Given the description of an element on the screen output the (x, y) to click on. 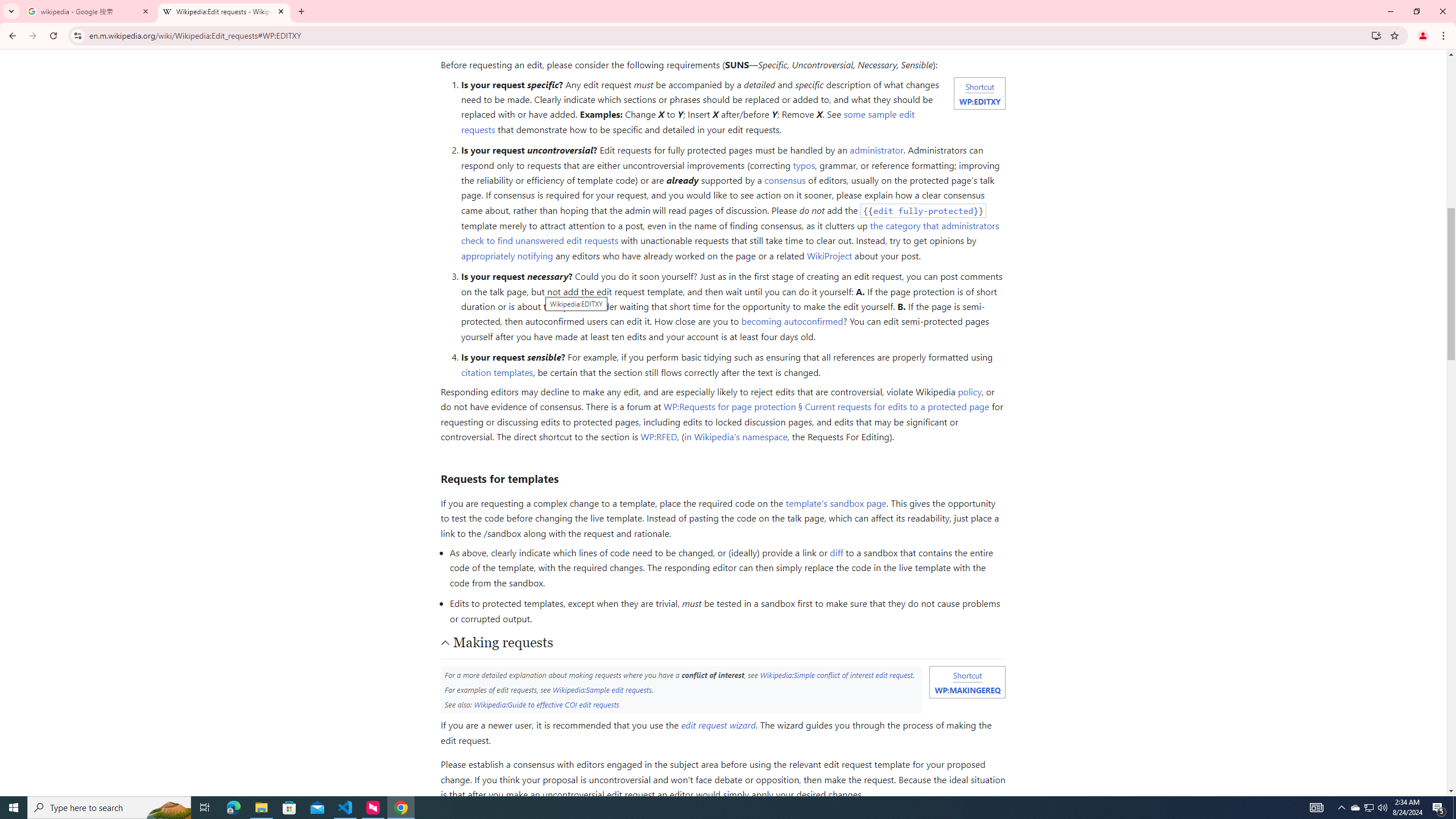
WikiProject (829, 254)
edit fully-protected (923, 210)
citation templates (496, 372)
administrator (877, 150)
some sample edit requests (687, 121)
WP:RFED (658, 436)
appropriately notifying (506, 254)
Wikipedia:Simple conflict of interest edit request (836, 674)
